Given the description of an element on the screen output the (x, y) to click on. 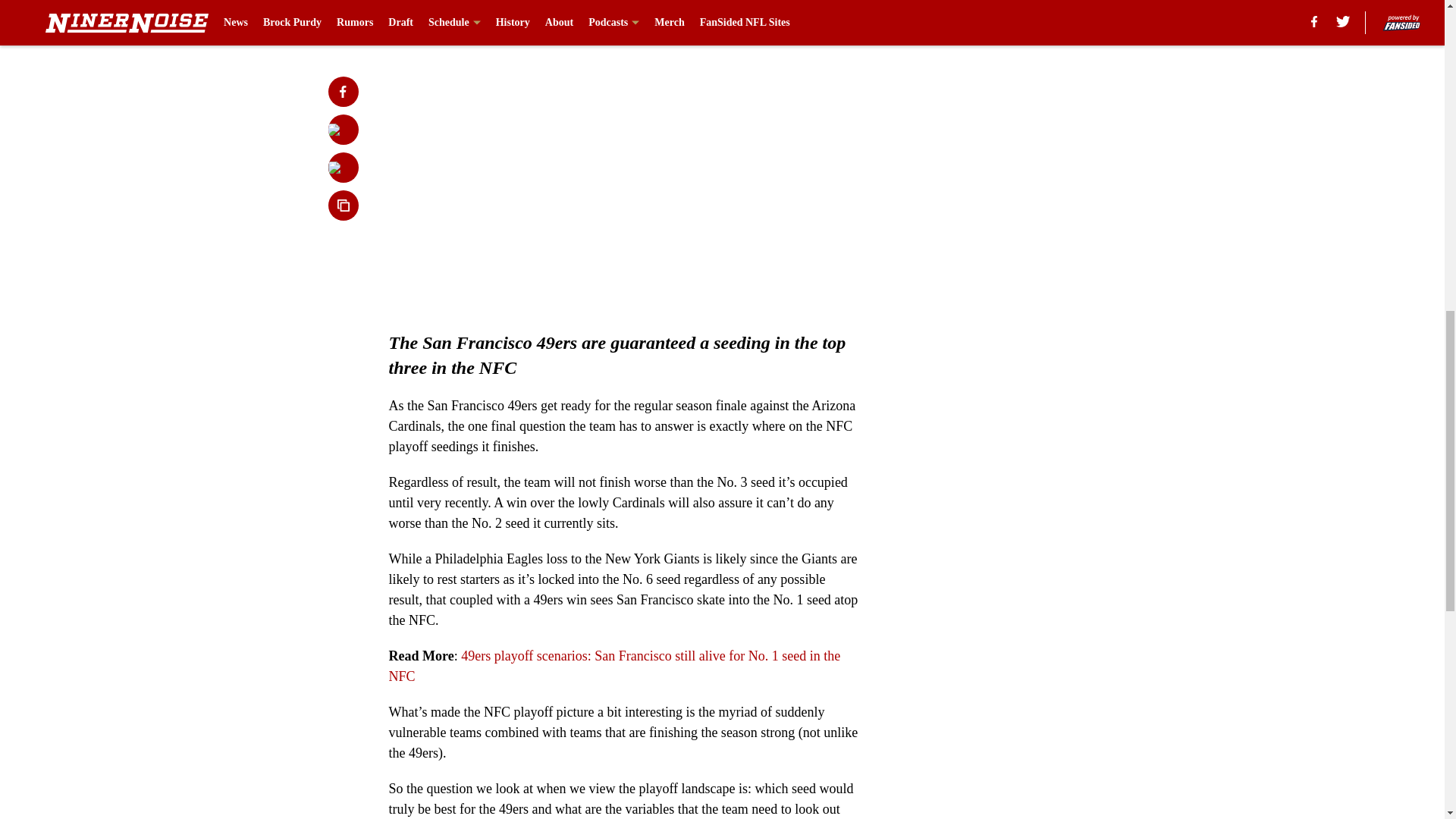
Next (813, 20)
Prev (433, 20)
